Given the description of an element on the screen output the (x, y) to click on. 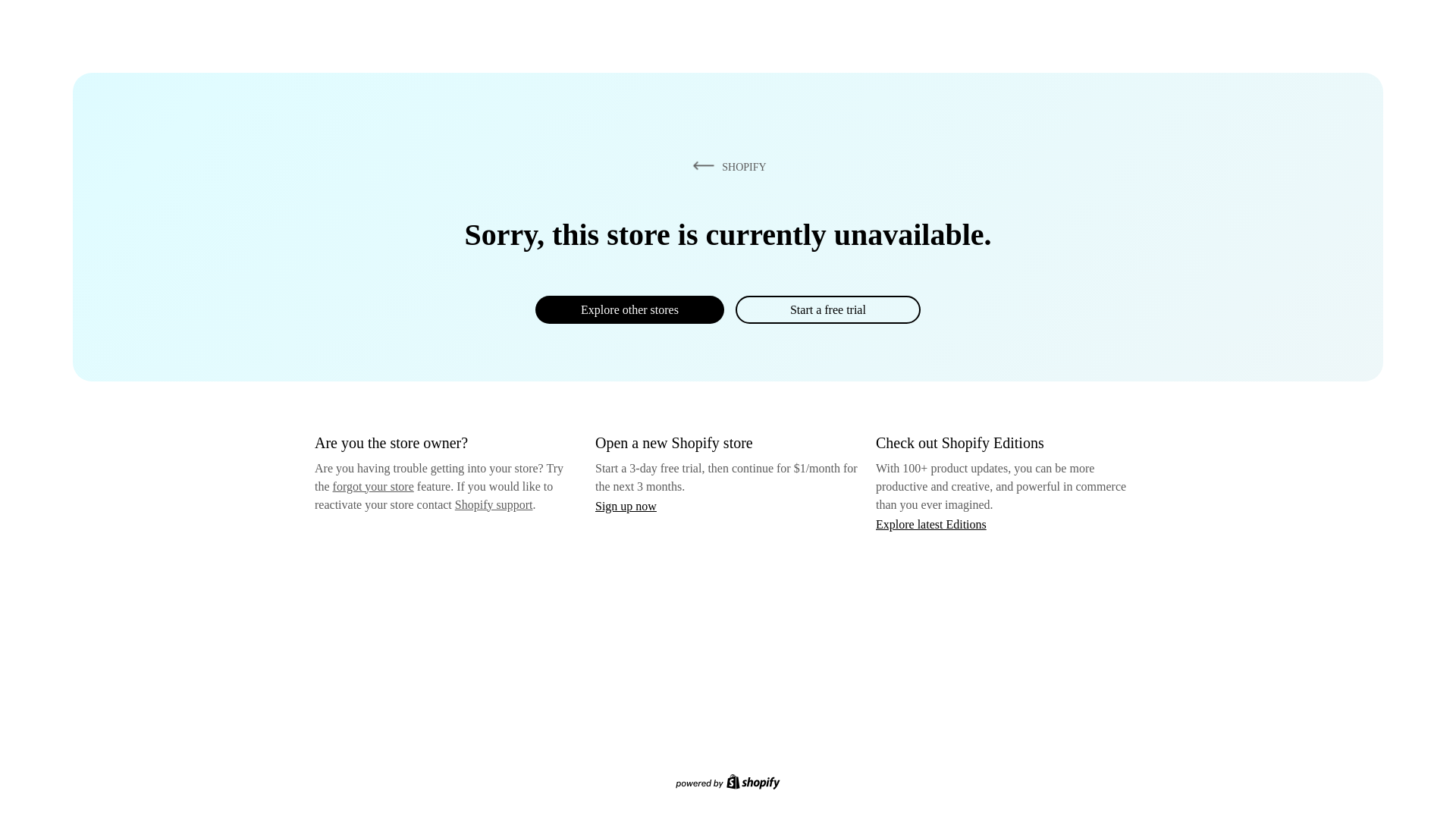
forgot your store (373, 486)
Explore latest Editions (931, 523)
Explore other stores (629, 309)
SHOPIFY (726, 166)
Shopify support (493, 504)
Sign up now (625, 505)
Start a free trial (827, 309)
